Given the description of an element on the screen output the (x, y) to click on. 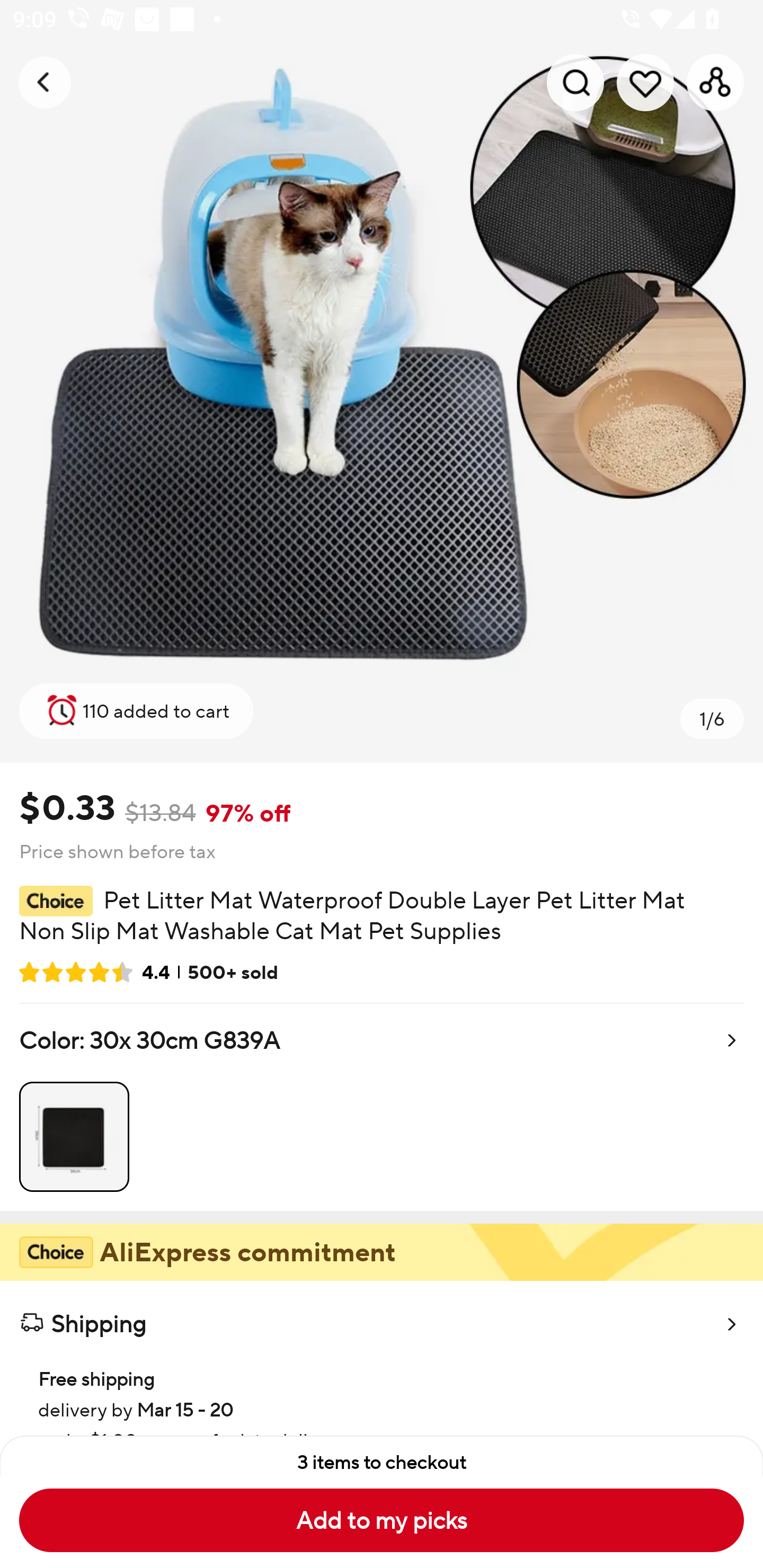
Navigate up (44, 82)
Color: 30x 30cm G839A  (381, 1106)
Add to my picks (381, 1520)
